Given the description of an element on the screen output the (x, y) to click on. 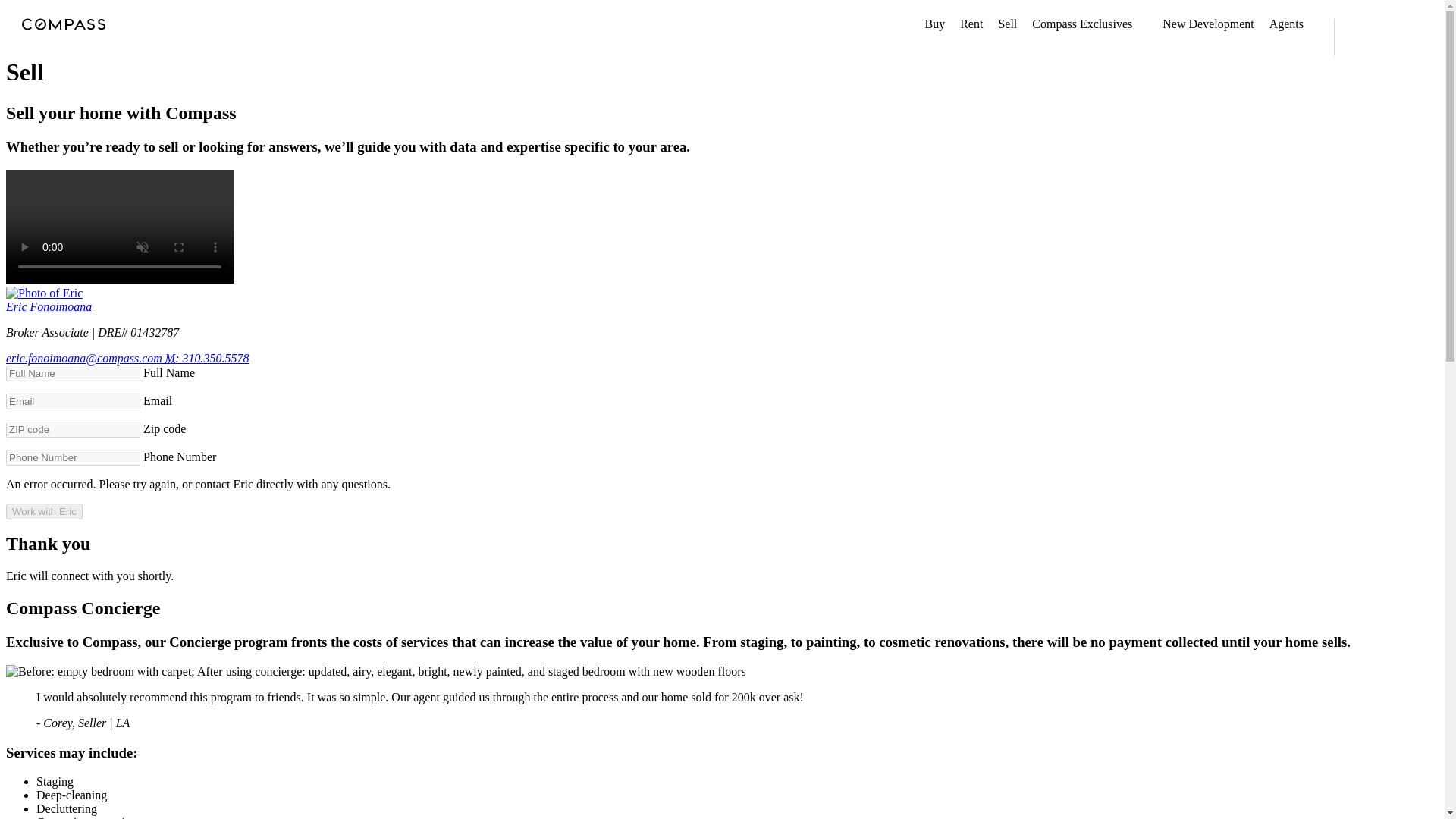
Eric Fonoimoana (48, 306)
Work with Eric (43, 511)
Buy (934, 23)
M: 310.350.5578 (206, 358)
New Development (1207, 23)
Sell (1007, 23)
Rent (971, 23)
Work with Eric (43, 511)
